Given the description of an element on the screen output the (x, y) to click on. 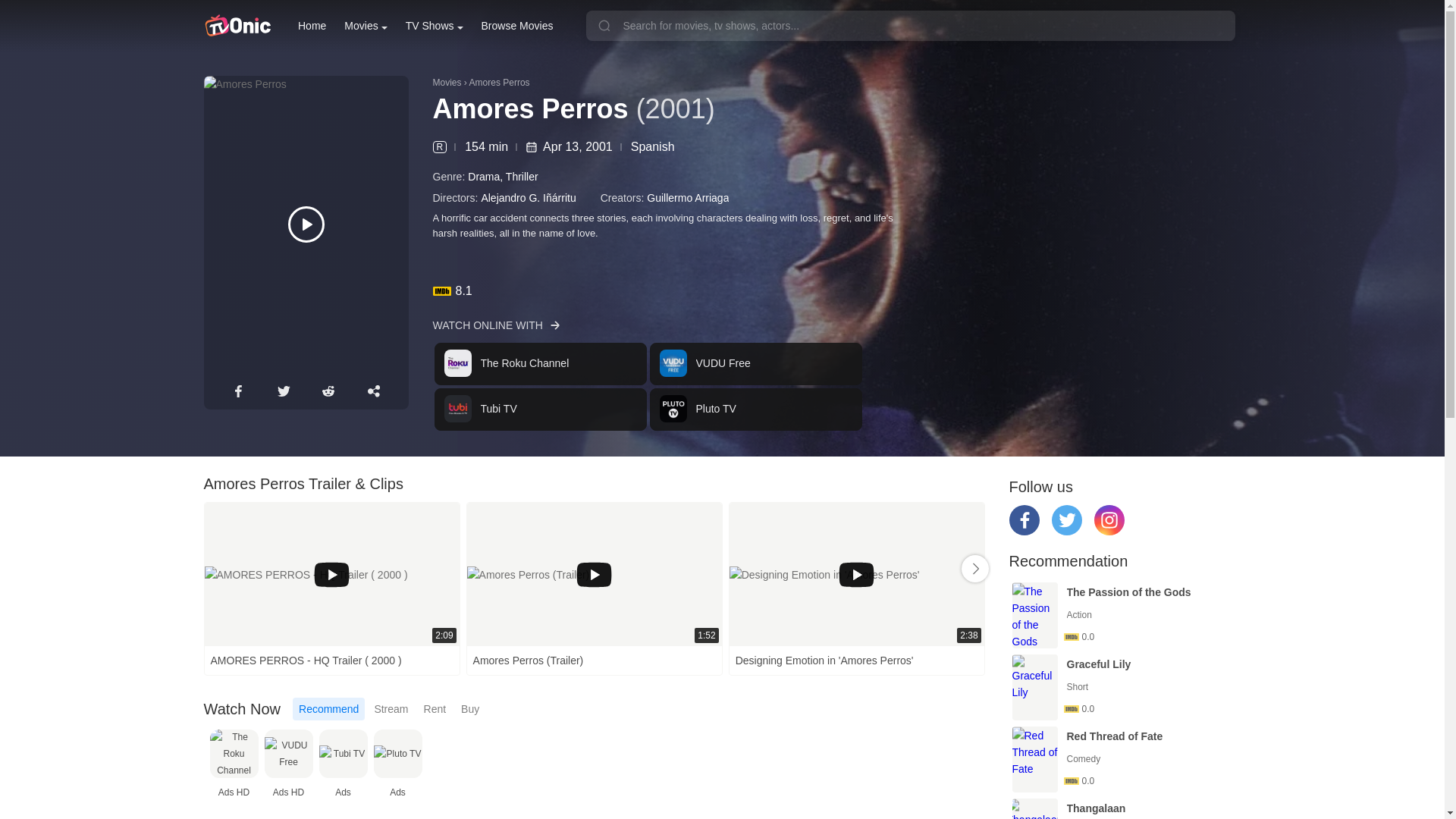
TVOnic (236, 25)
Home (312, 25)
Movies (647, 386)
Movies (315, 764)
8.1 (365, 25)
TV Shows (365, 25)
